Given the description of an element on the screen output the (x, y) to click on. 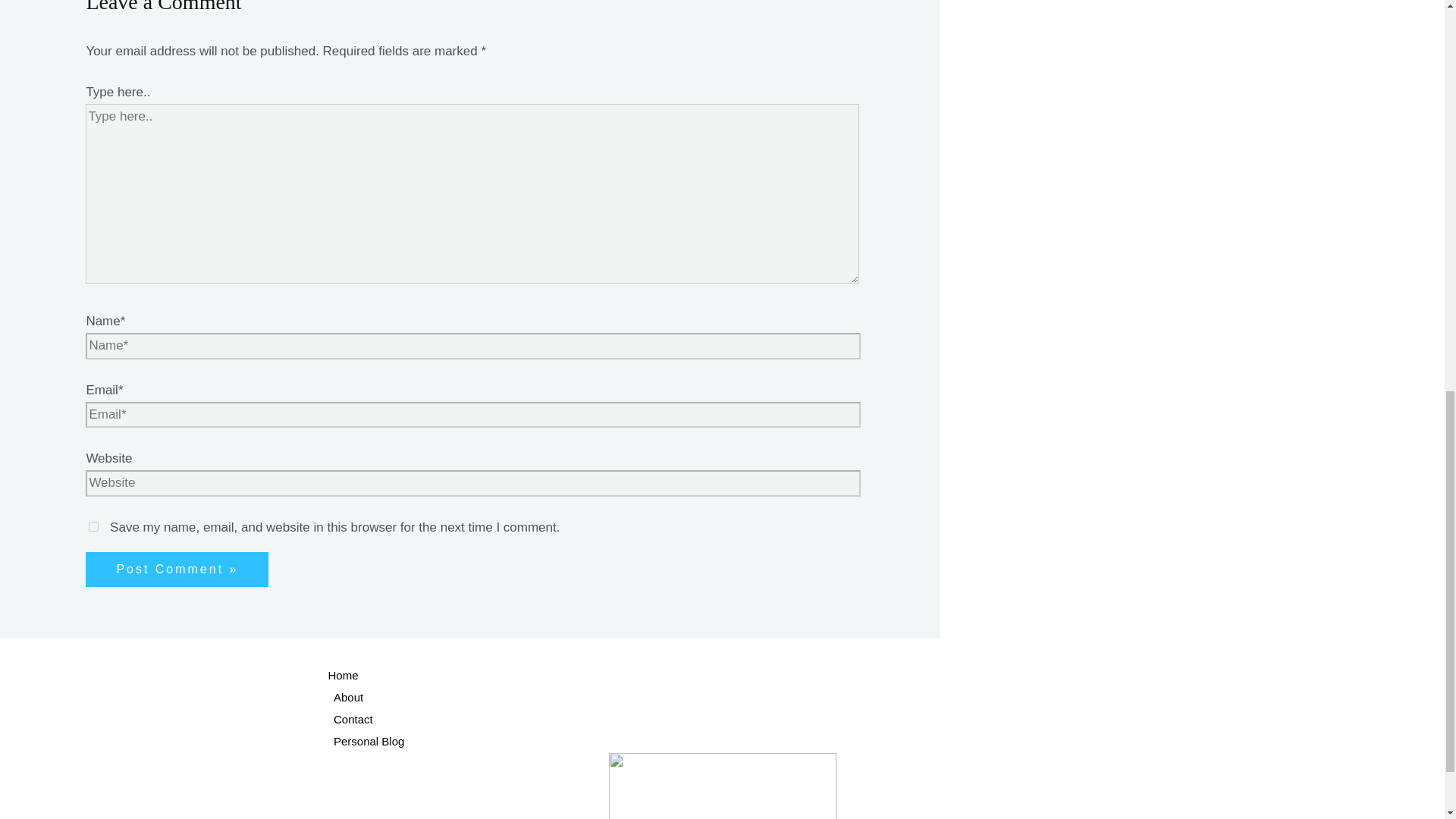
yes (93, 526)
Personal Blog (751, 741)
Contact (751, 720)
Home (751, 676)
About (751, 698)
